Given the description of an element on the screen output the (x, y) to click on. 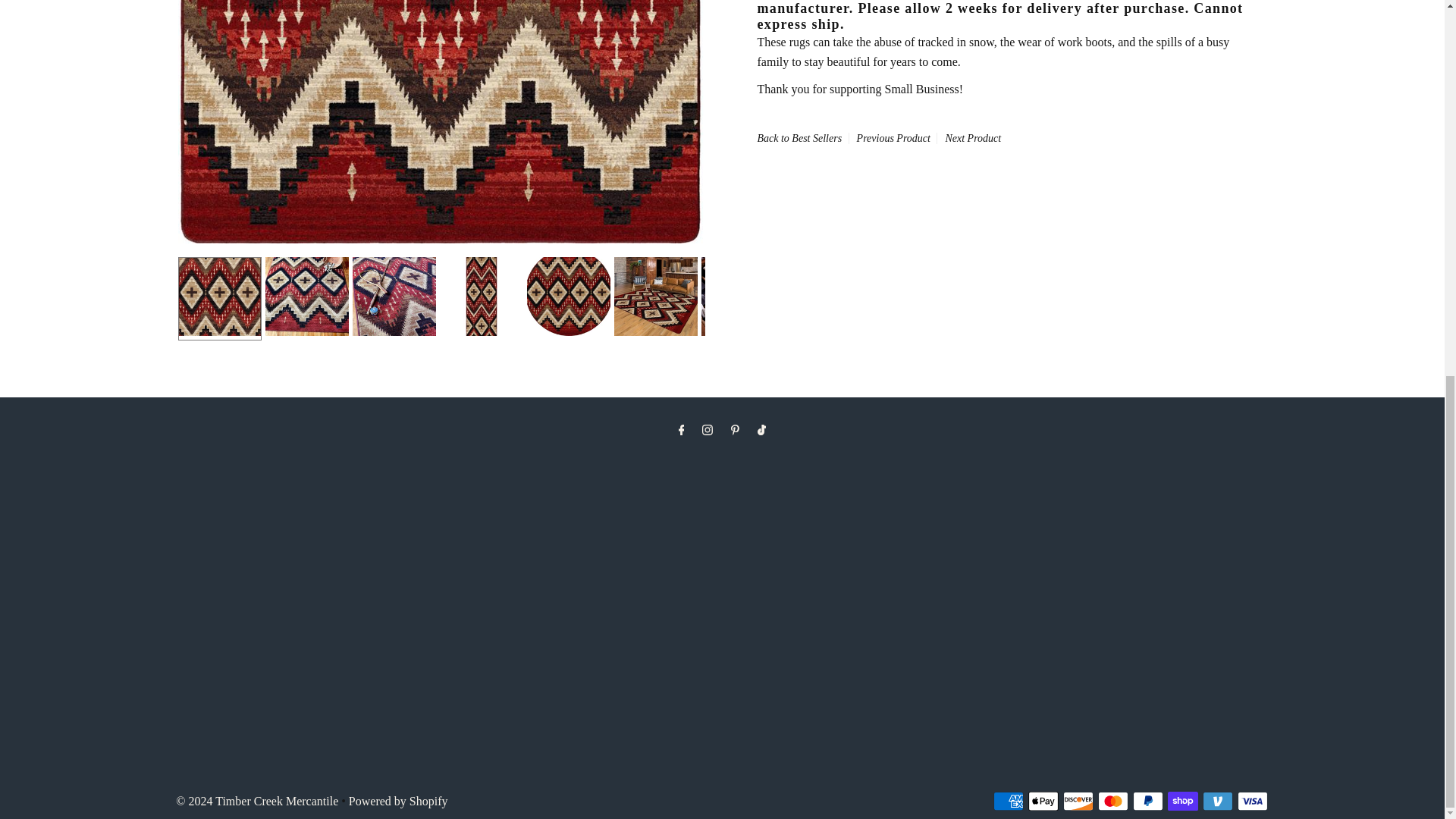
Back to Best Sellers (799, 138)
Next Product (972, 138)
Apple Pay (1042, 800)
Discover (1077, 800)
Previous Product (893, 138)
American Express (1007, 800)
Mastercard (1112, 800)
